Given the description of an element on the screen output the (x, y) to click on. 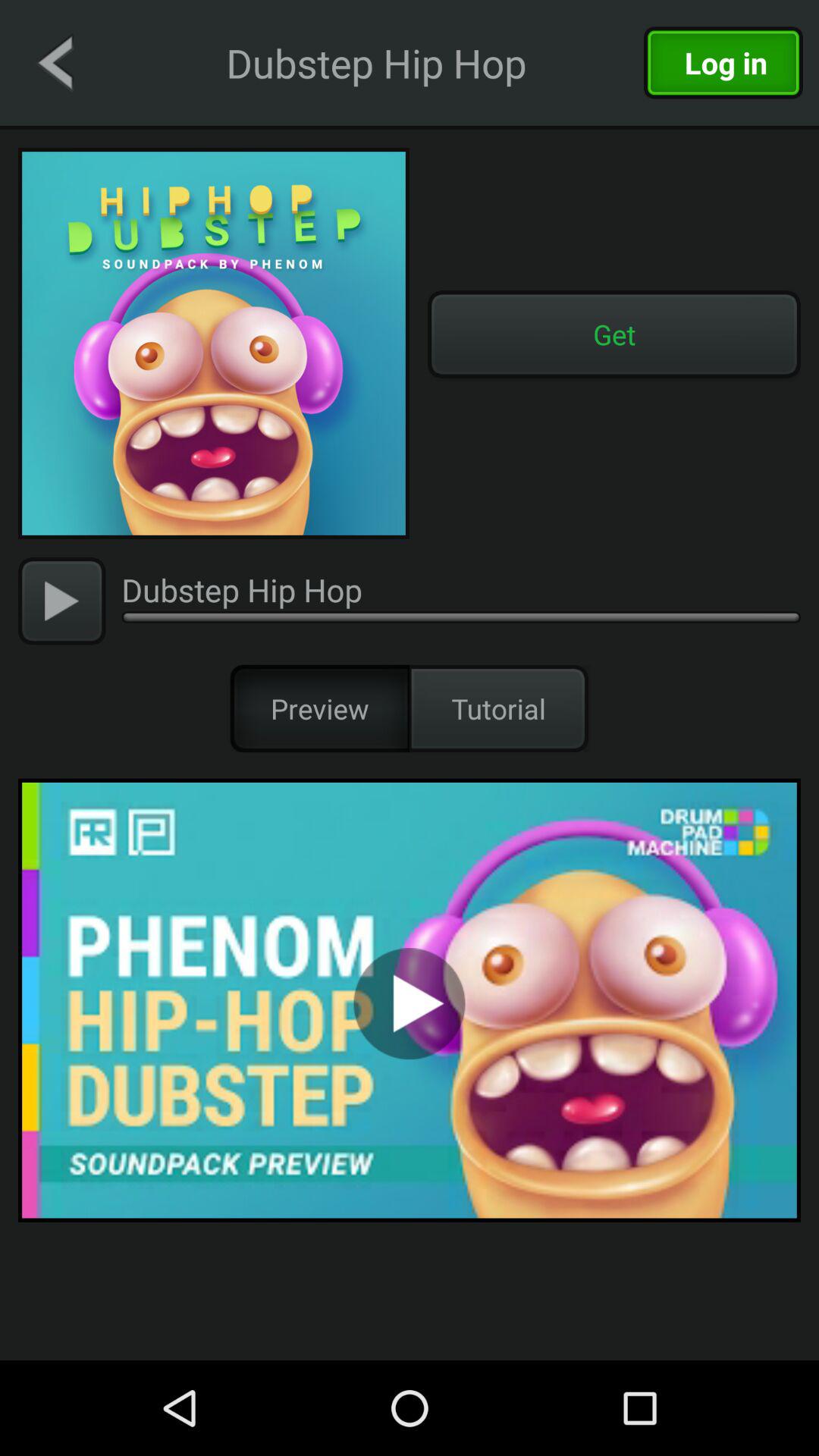
swipe to the get (613, 334)
